Given the description of an element on the screen output the (x, y) to click on. 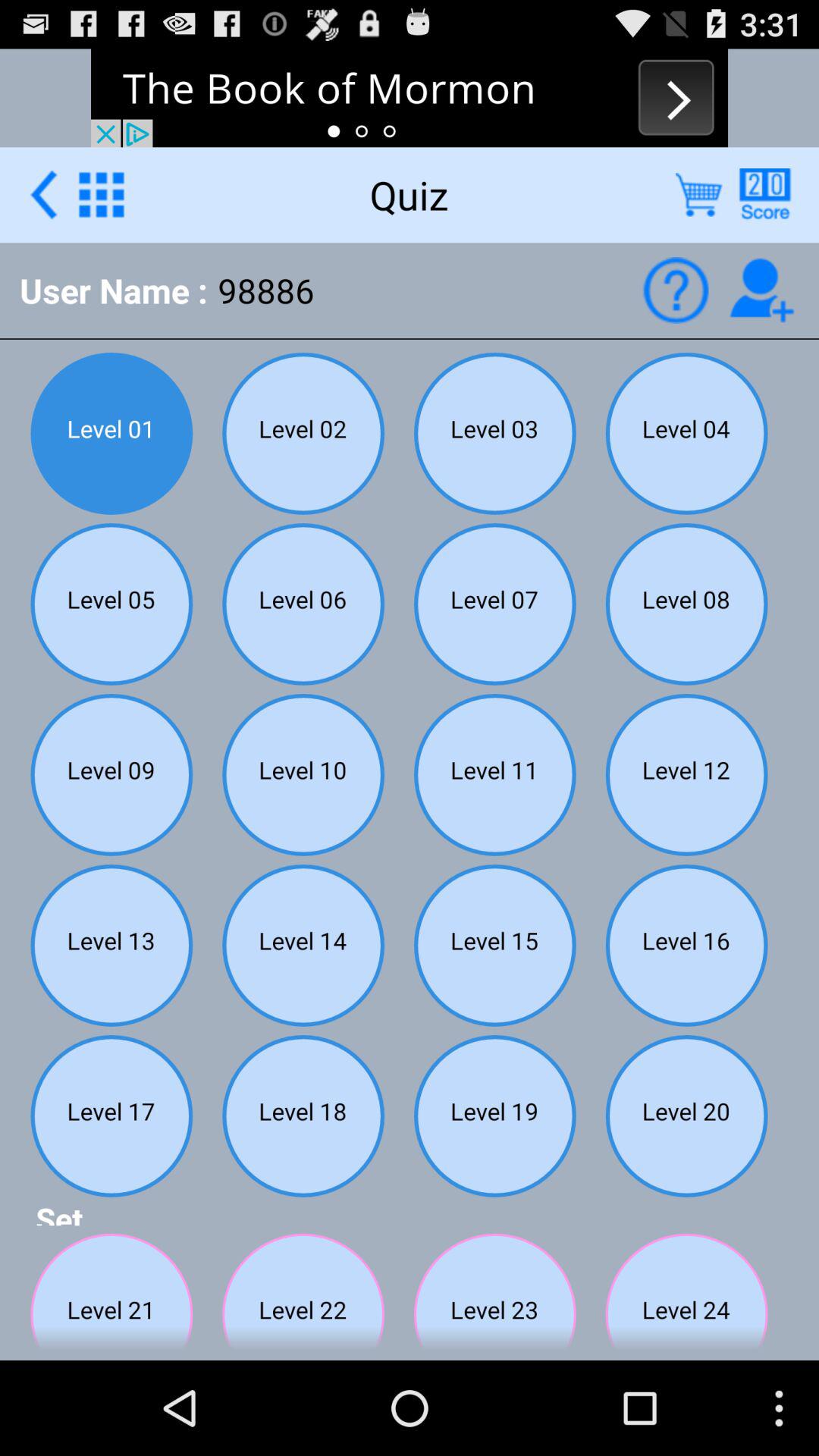
con task (761, 290)
